Given the description of an element on the screen output the (x, y) to click on. 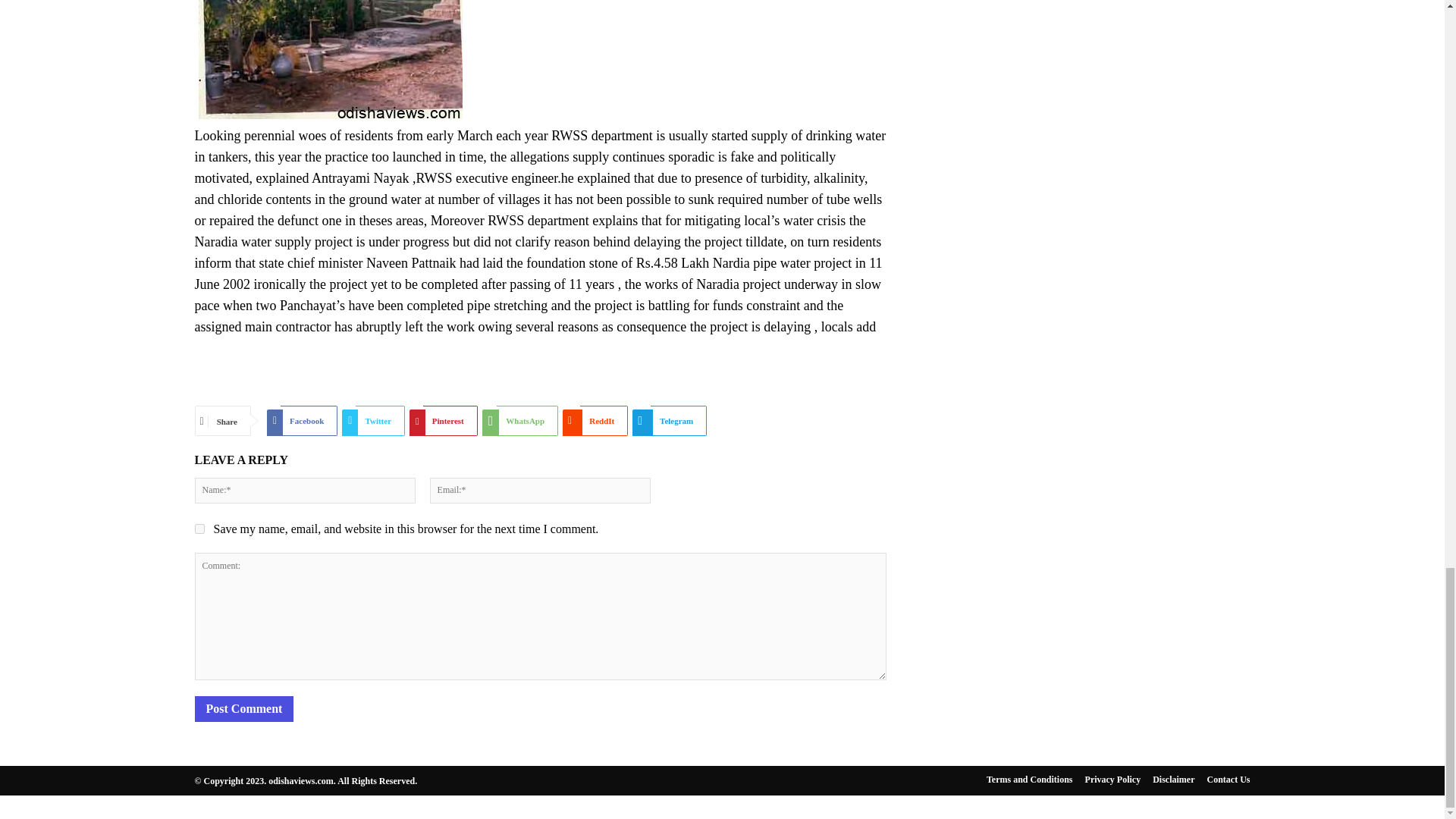
Facebook (301, 420)
Telegram (668, 420)
ReddIt (594, 420)
Twitter (373, 420)
Post Comment (243, 708)
Pinterest (443, 420)
yes (198, 528)
WhatsApp (519, 420)
